Given the description of an element on the screen output the (x, y) to click on. 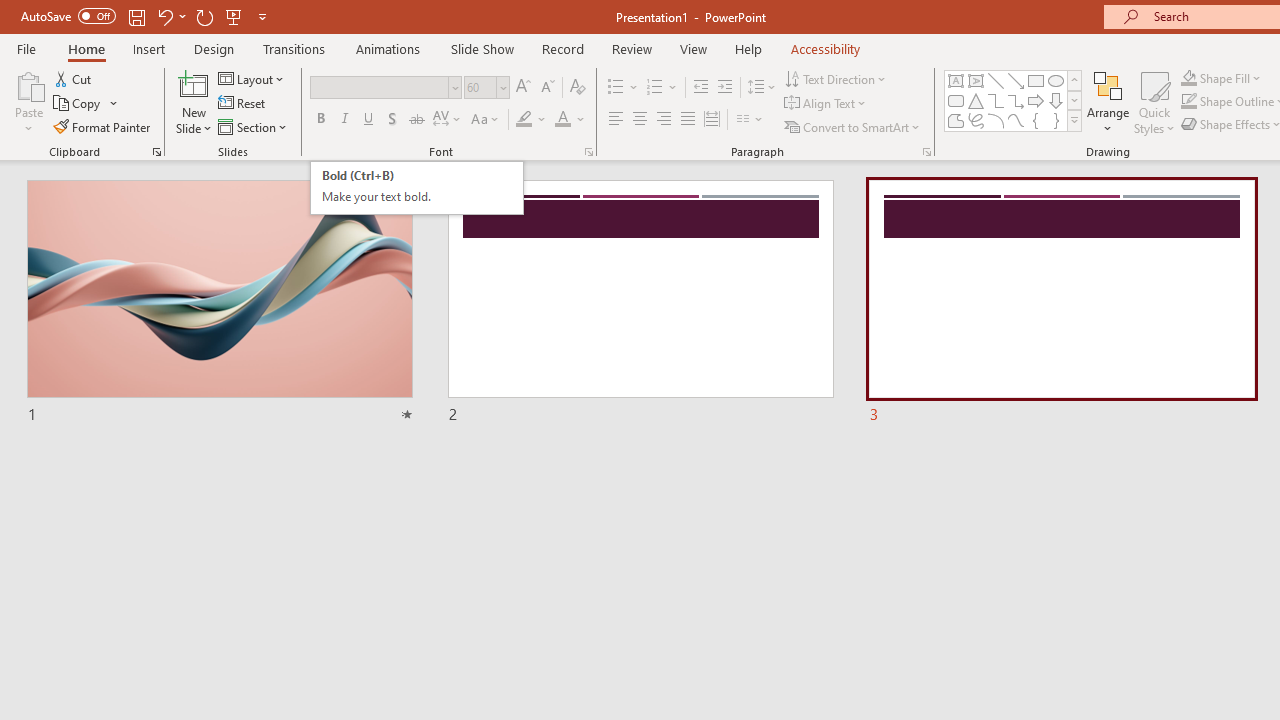
View (693, 48)
Arrow: Right (1035, 100)
Distributed (712, 119)
Review (631, 48)
Bold (320, 119)
Shape Outline Blue, Accent 1 (1188, 101)
Font Size (480, 87)
Row up (1074, 79)
Oval (1055, 80)
Bullets (623, 87)
Connector: Elbow Arrow (1016, 100)
Shape Fill Orange, Accent 2 (1188, 78)
Open (502, 87)
Reset (243, 103)
